Given the description of an element on the screen output the (x, y) to click on. 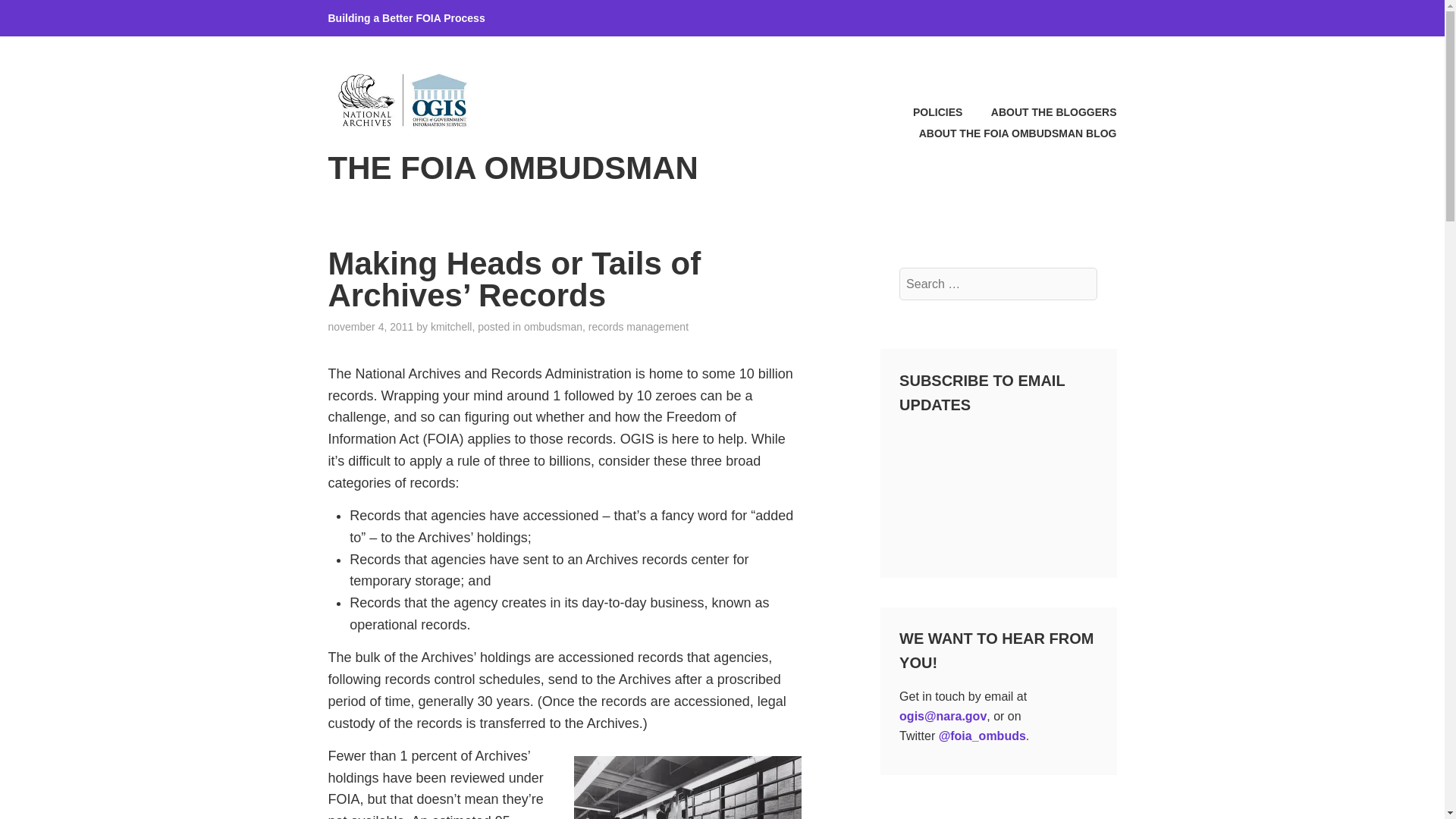
Form 0 (998, 488)
Search (48, 17)
ABOUT THE BLOGGERS (1040, 111)
POLICIES (924, 111)
THE FOIA OMBUDSMAN (512, 167)
kmitchell (450, 326)
records management (638, 326)
november 4, 2011 (370, 326)
ABOUT THE FOIA OMBUDSMAN BLOG (1004, 133)
ombudsman (553, 326)
